Given the description of an element on the screen output the (x, y) to click on. 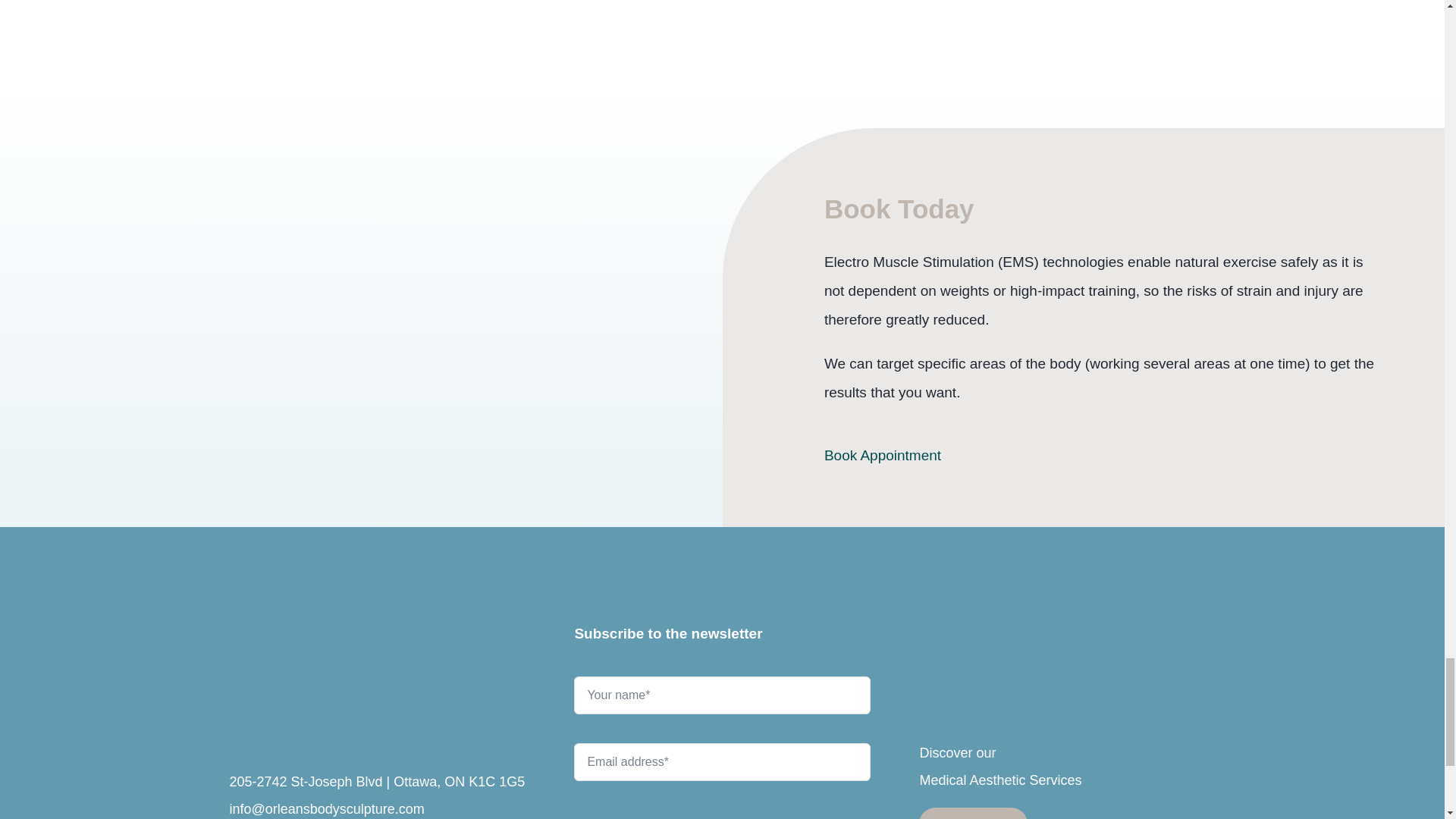
Submit (721, 740)
